Given the description of an element on the screen output the (x, y) to click on. 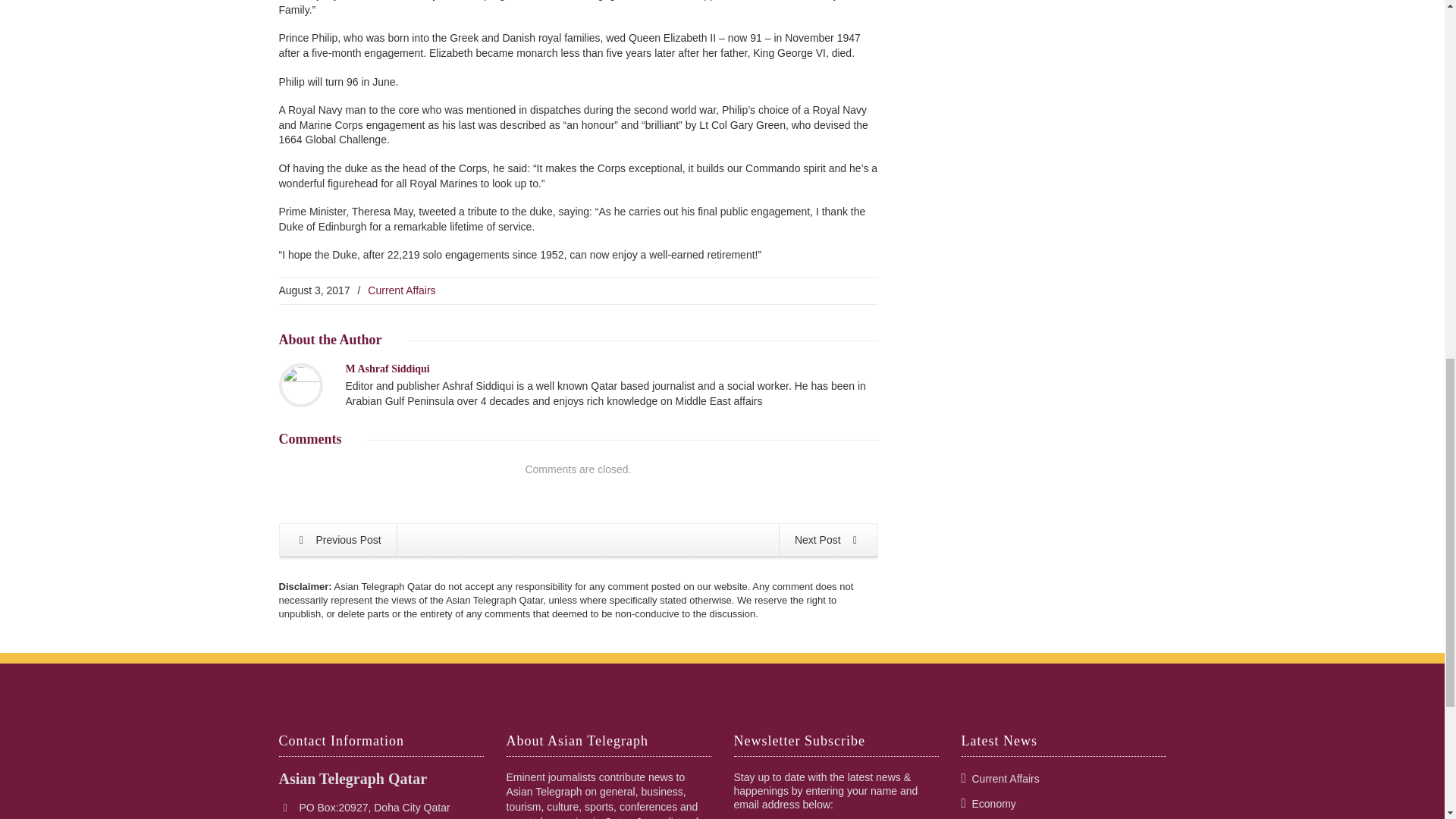
M Ashraf Siddiqui (387, 368)
Current Affairs (401, 290)
Iranian Diplomatic Team is to Depart for Saudi Arabia (337, 540)
Next Post (828, 540)
Author's Posts (387, 368)
Previous Post (337, 540)
